Given the description of an element on the screen output the (x, y) to click on. 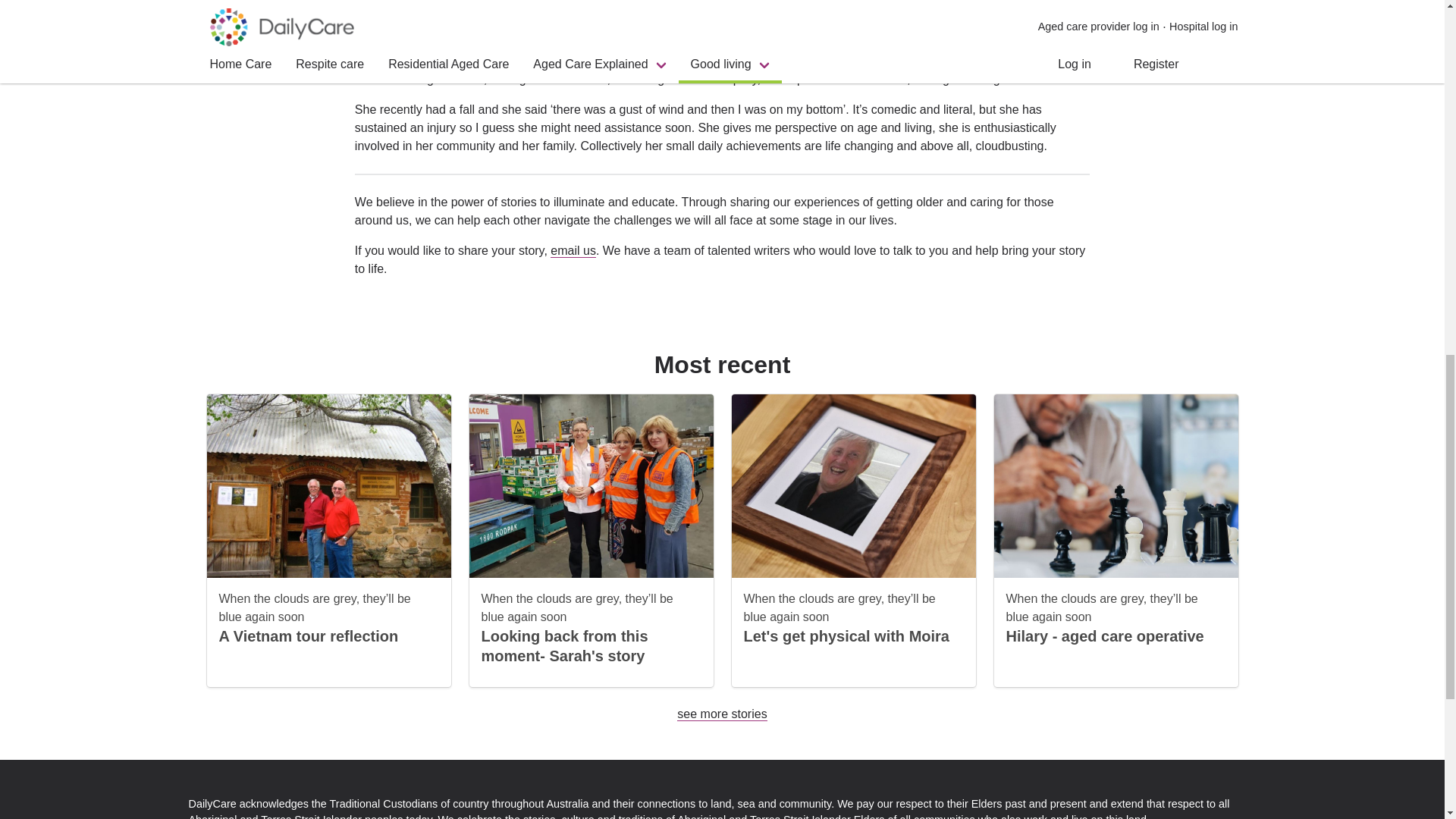
email us (572, 250)
Hilary - aged care operative (1105, 636)
A Vietnam tour reflection (307, 636)
Let's get physical with Moira (845, 636)
Looking back from this moment- Sarah's story (563, 646)
Let's get physical with Moira (845, 636)
A Vietnam tour reflection  (307, 636)
Looking back from this moment- Sarah's story (563, 646)
